Given the description of an element on the screen output the (x, y) to click on. 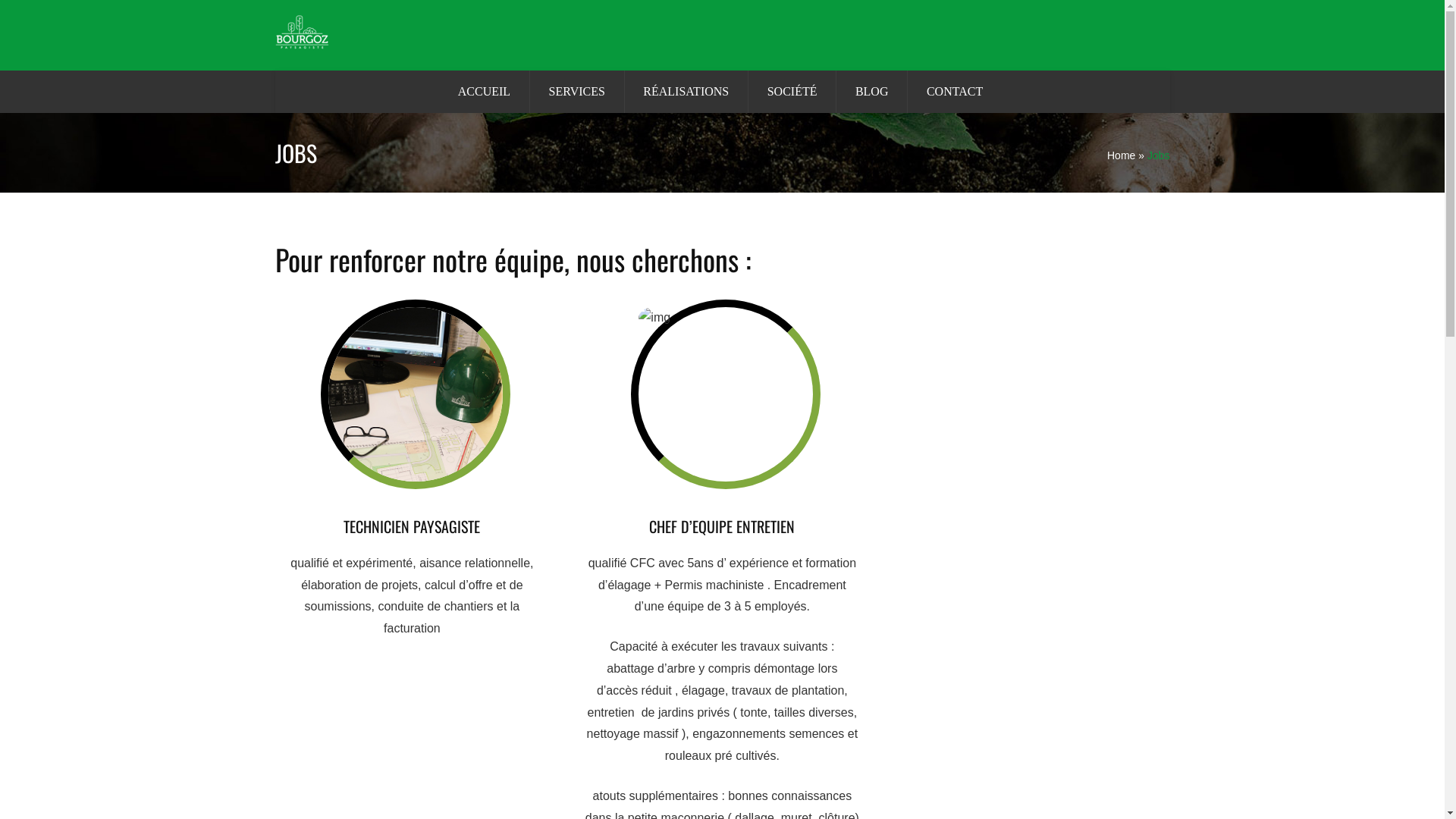
Home Element type: text (1121, 155)
BLOG Element type: text (871, 86)
ACCUEIL Element type: text (484, 86)
CONTACT Element type: text (954, 86)
SERVICES Element type: text (577, 86)
